Given the description of an element on the screen output the (x, y) to click on. 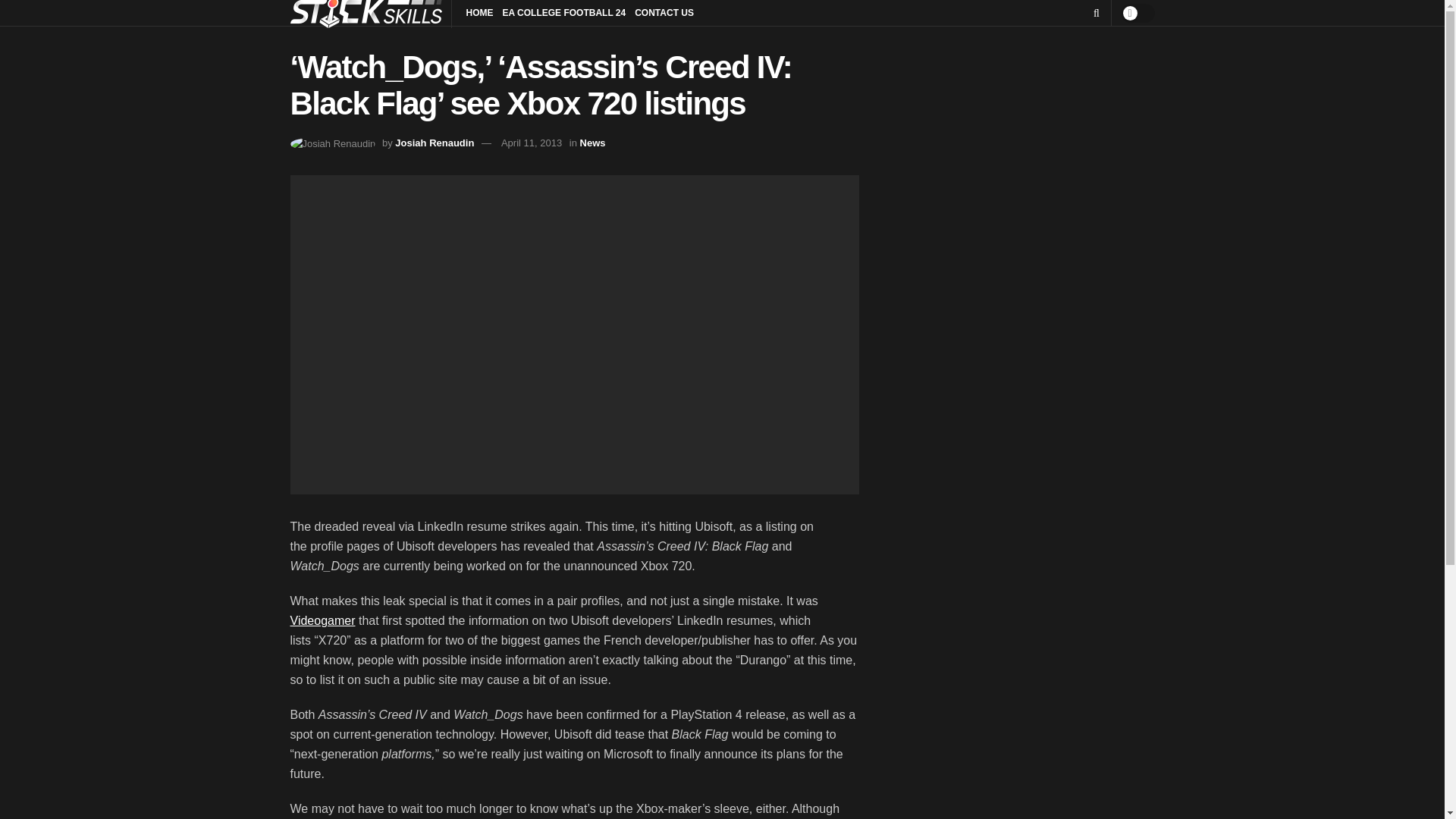
HOME (479, 12)
April 11, 2013 (531, 142)
Josiah Renaudin (434, 142)
EA COLLEGE FOOTBALL 24 (564, 12)
Videogamer (322, 620)
CONTACT US (664, 12)
News (592, 142)
